Given the description of an element on the screen output the (x, y) to click on. 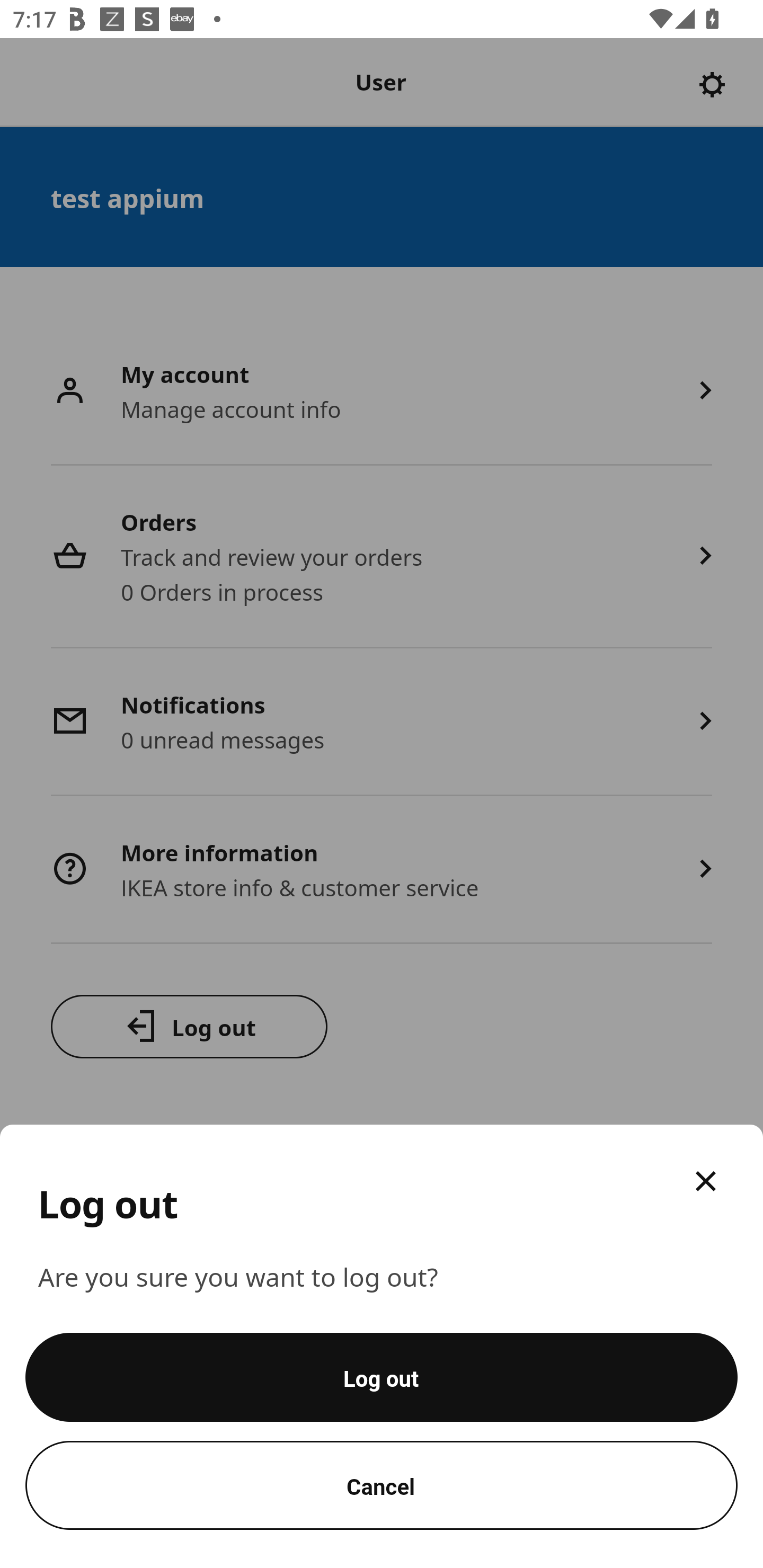
Log out (381, 1377)
Cancel (381, 1485)
